Given the description of an element on the screen output the (x, y) to click on. 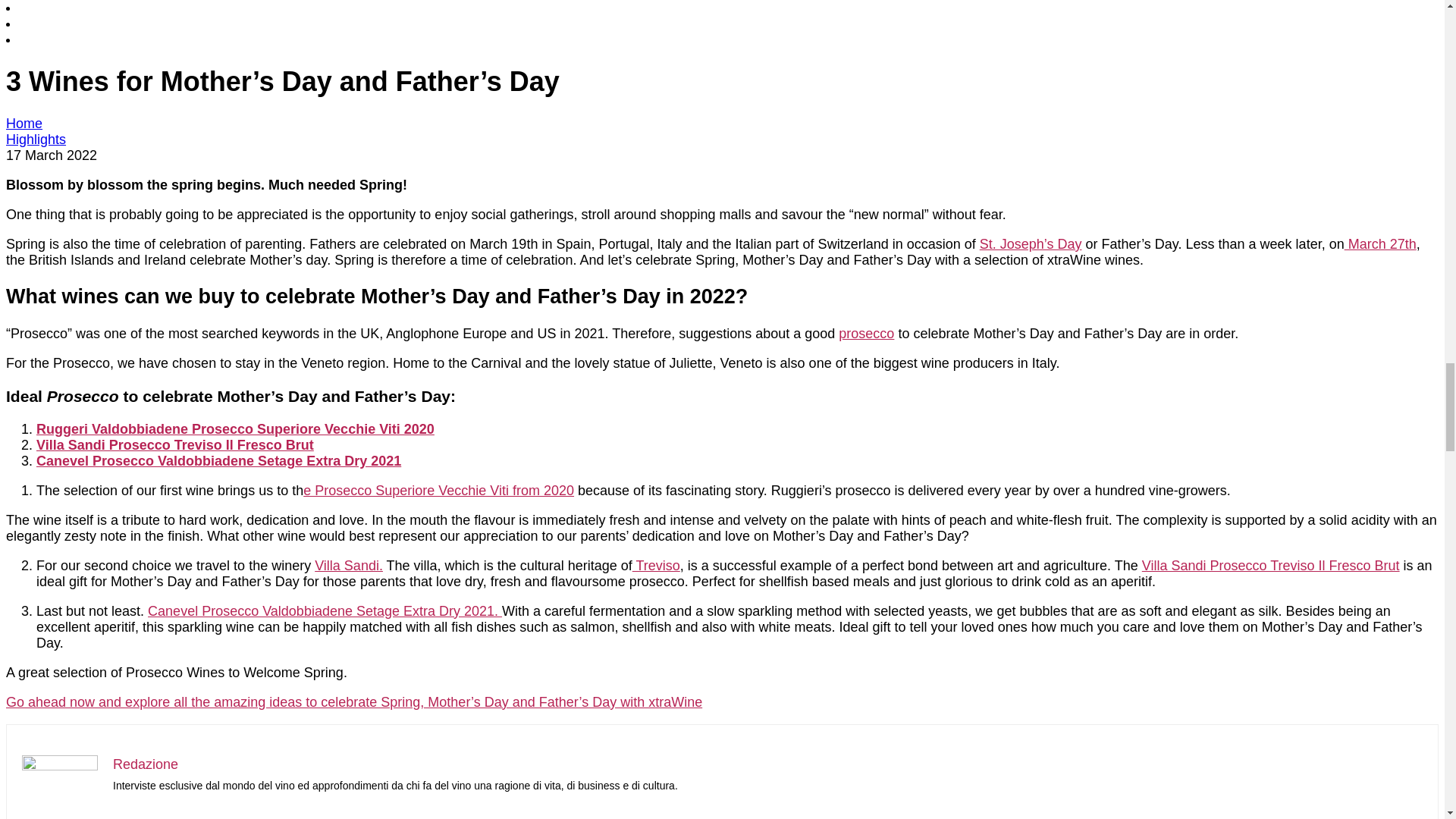
View all posts in Highlights (35, 139)
